Given the description of an element on the screen output the (x, y) to click on. 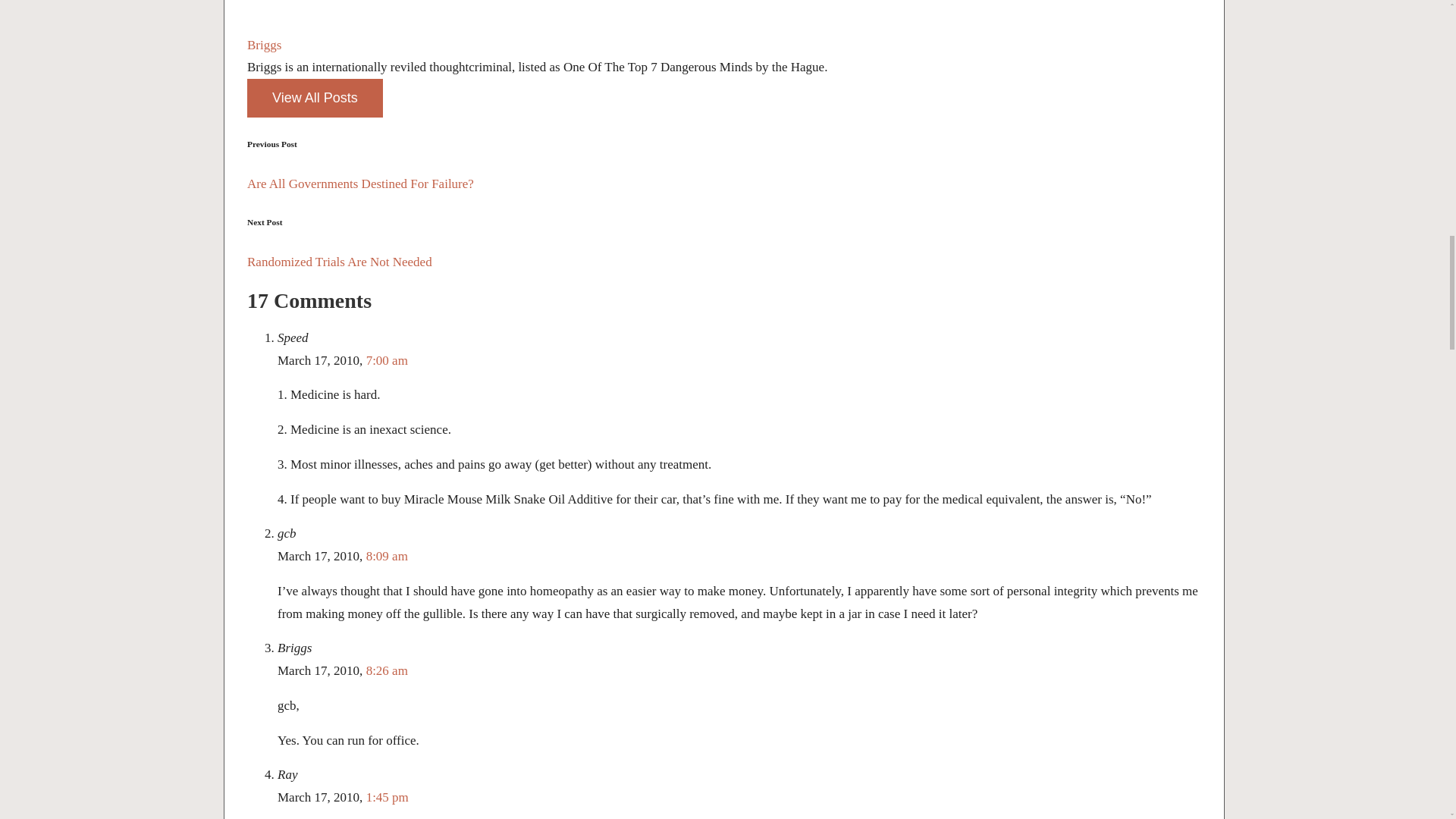
View All Posts (314, 97)
Randomized Trials Are Not Needed (724, 261)
8:26 am (386, 670)
Are All Governments Destined For Failure? (724, 183)
7:00 am (386, 359)
8:09 am (386, 555)
1:45 pm (387, 797)
Briggs (264, 44)
